Given the description of an element on the screen output the (x, y) to click on. 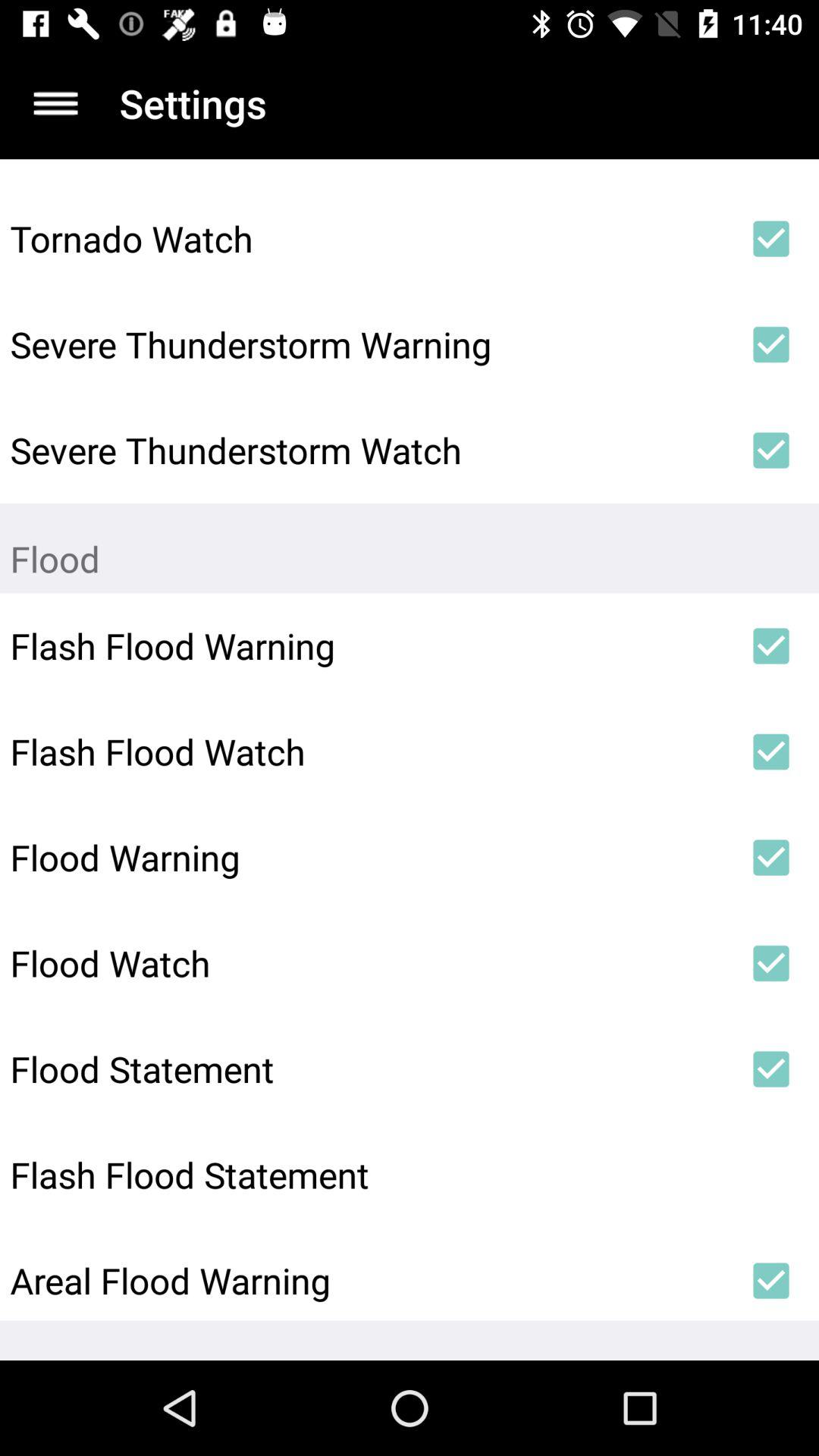
turn on the icon to the right of the flash flood statement (771, 1174)
